Given the description of an element on the screen output the (x, y) to click on. 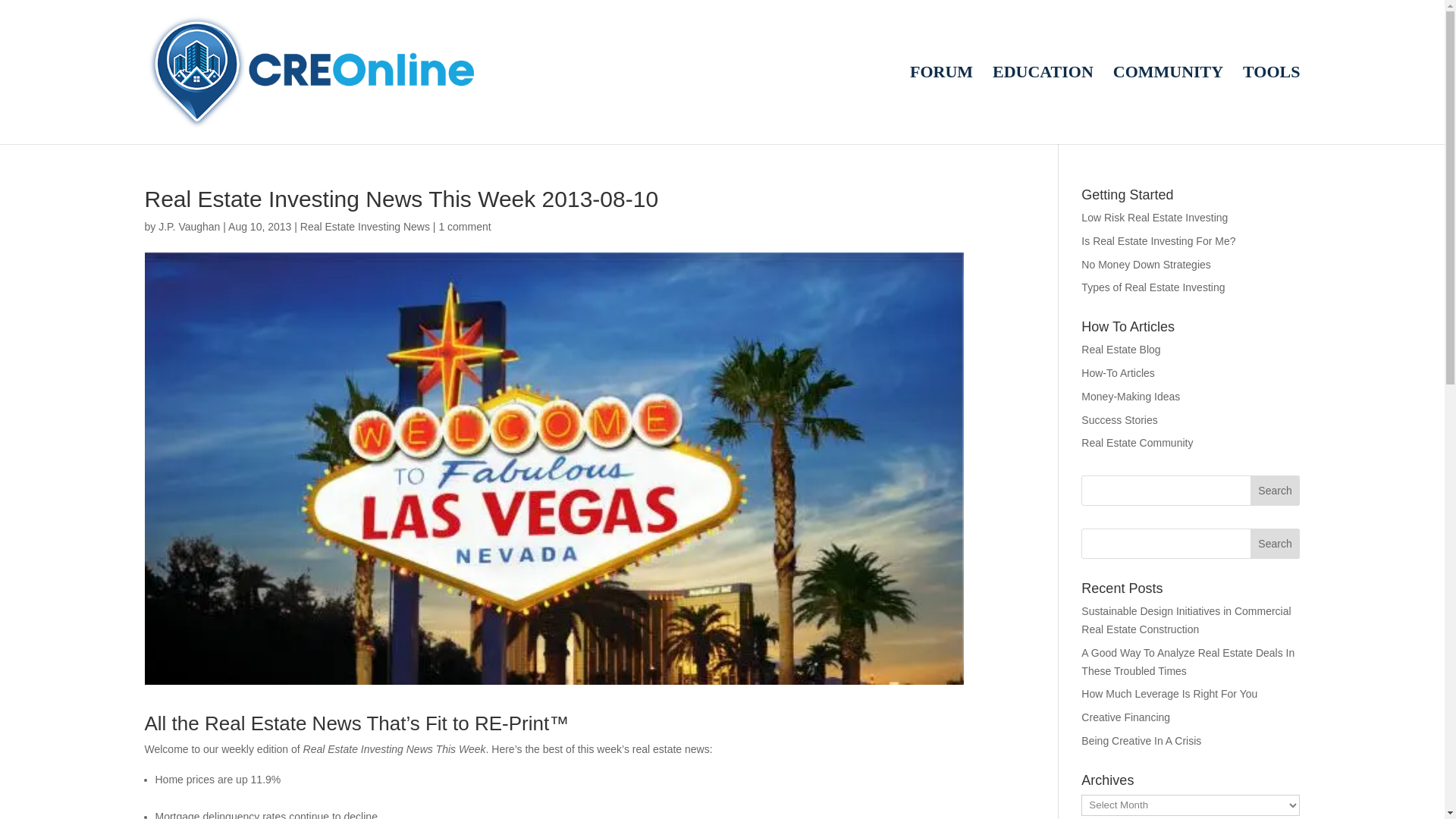
Search (1275, 543)
Search (1275, 543)
No Money Down Strategies (1145, 264)
FORUM (941, 105)
How-To Articles (1117, 372)
Creative Financing (1125, 717)
COMMUNITY (1168, 105)
Search (1275, 490)
Types of Real Estate Investing (1152, 287)
1 comment (464, 226)
Real Estate Investing News (364, 226)
Posts by J.P. Vaughan (188, 226)
Being Creative In A Crisis (1141, 740)
EDUCATION (1042, 105)
